Given the description of an element on the screen output the (x, y) to click on. 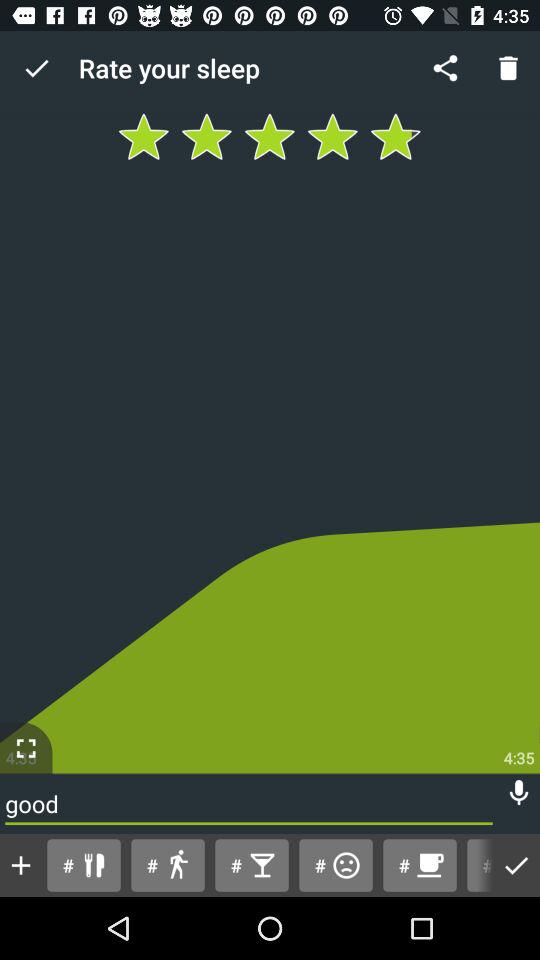
swipe until # (168, 864)
